Given the description of an element on the screen output the (x, y) to click on. 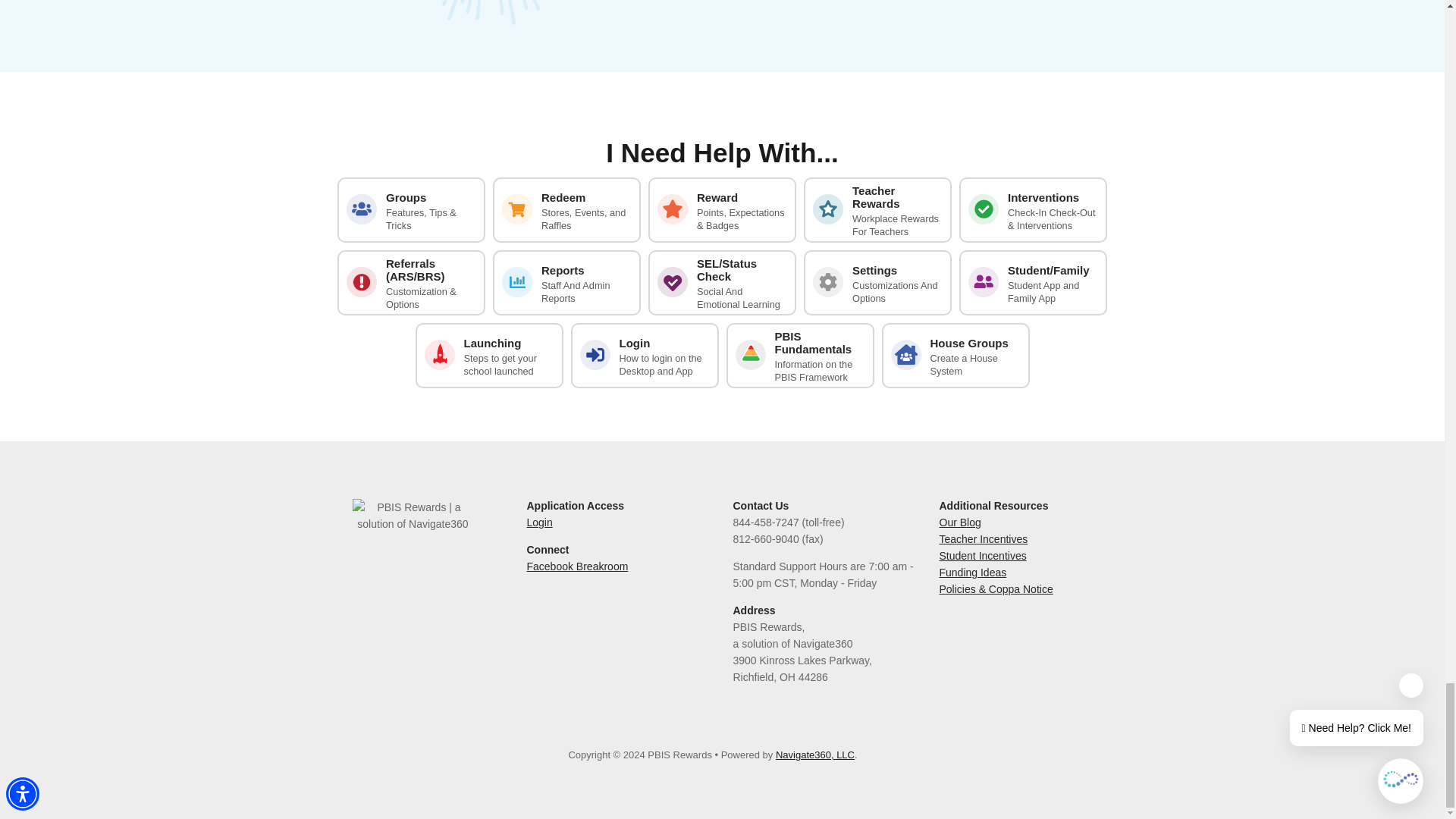
View all posts in Teacher Rewards (877, 209)
View all posts in Redeem (566, 209)
View all posts in Interventions (1032, 209)
View all posts in Reward (721, 209)
View all posts in Groups (410, 209)
